Given the description of an element on the screen output the (x, y) to click on. 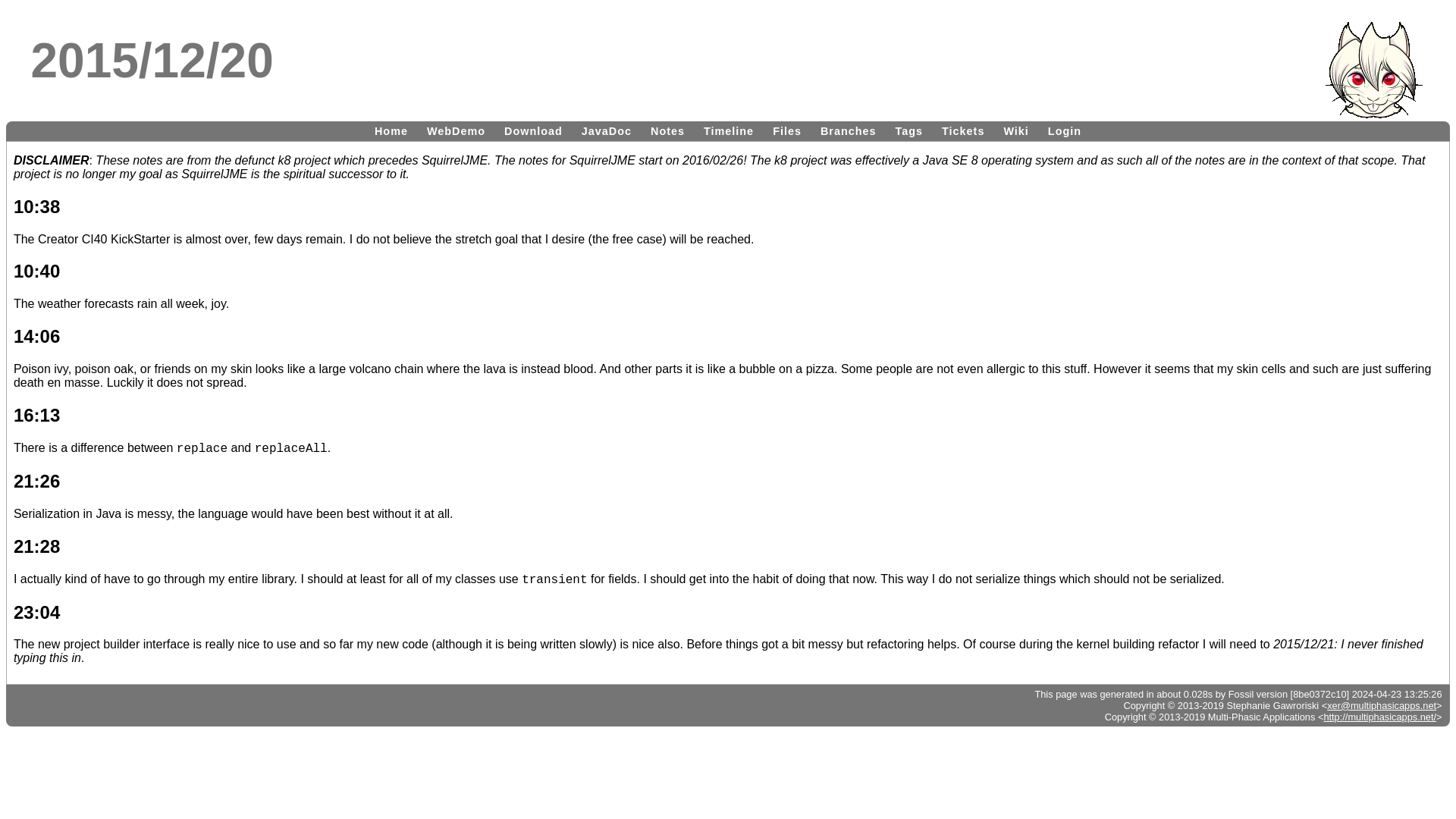
Home (390, 130)
Tags (909, 130)
Download (533, 130)
Timeline (728, 130)
Lex the SquirrelJME mascot! (1373, 69)
Login (1065, 130)
Tickets (962, 130)
Branches (847, 130)
JavaDoc (606, 130)
Wiki (1015, 130)
Notes (668, 130)
WebDemo (456, 130)
Files (787, 130)
